Given the description of an element on the screen output the (x, y) to click on. 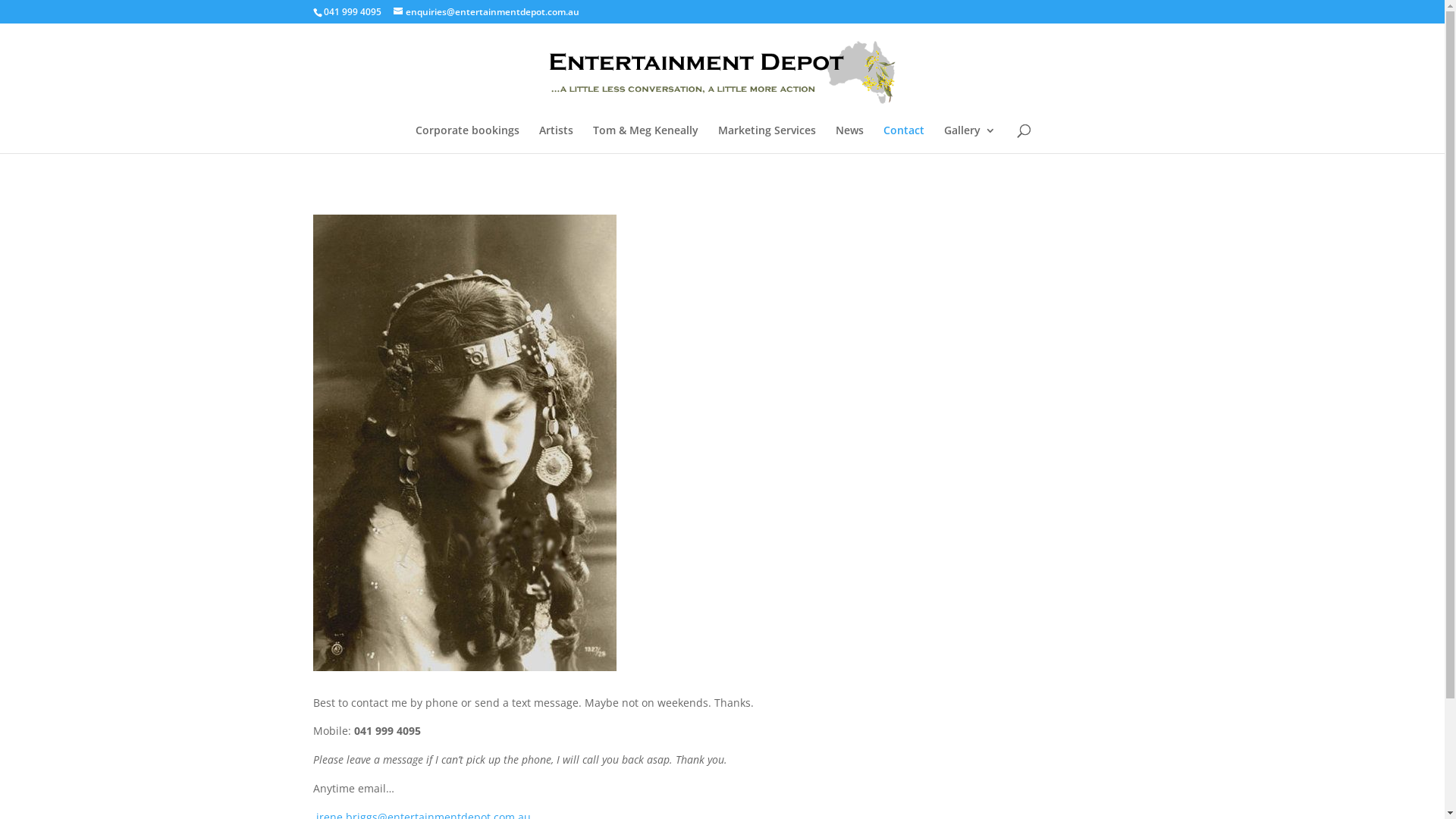
News Element type: text (849, 139)
Tom & Meg Keneally Element type: text (645, 139)
Contact Element type: text (903, 139)
Marketing Services Element type: text (766, 139)
Gallery Element type: text (969, 139)
Corporate bookings Element type: text (467, 139)
enquiries@entertainmentdepot.com.au Element type: text (485, 11)
Artists Element type: text (556, 139)
